Given the description of an element on the screen output the (x, y) to click on. 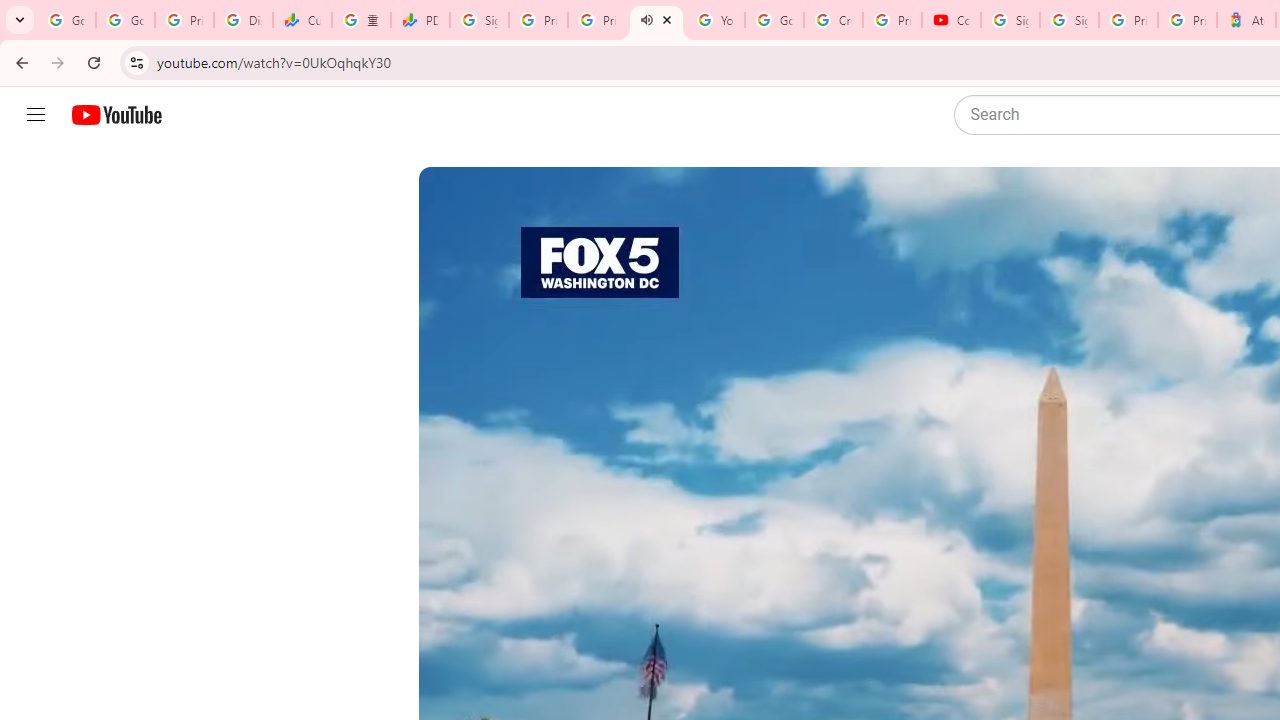
Sign in - Google Accounts (479, 20)
Google Account Help (774, 20)
Privacy Checkup (597, 20)
Sign in - Google Accounts (1069, 20)
